Given the description of an element on the screen output the (x, y) to click on. 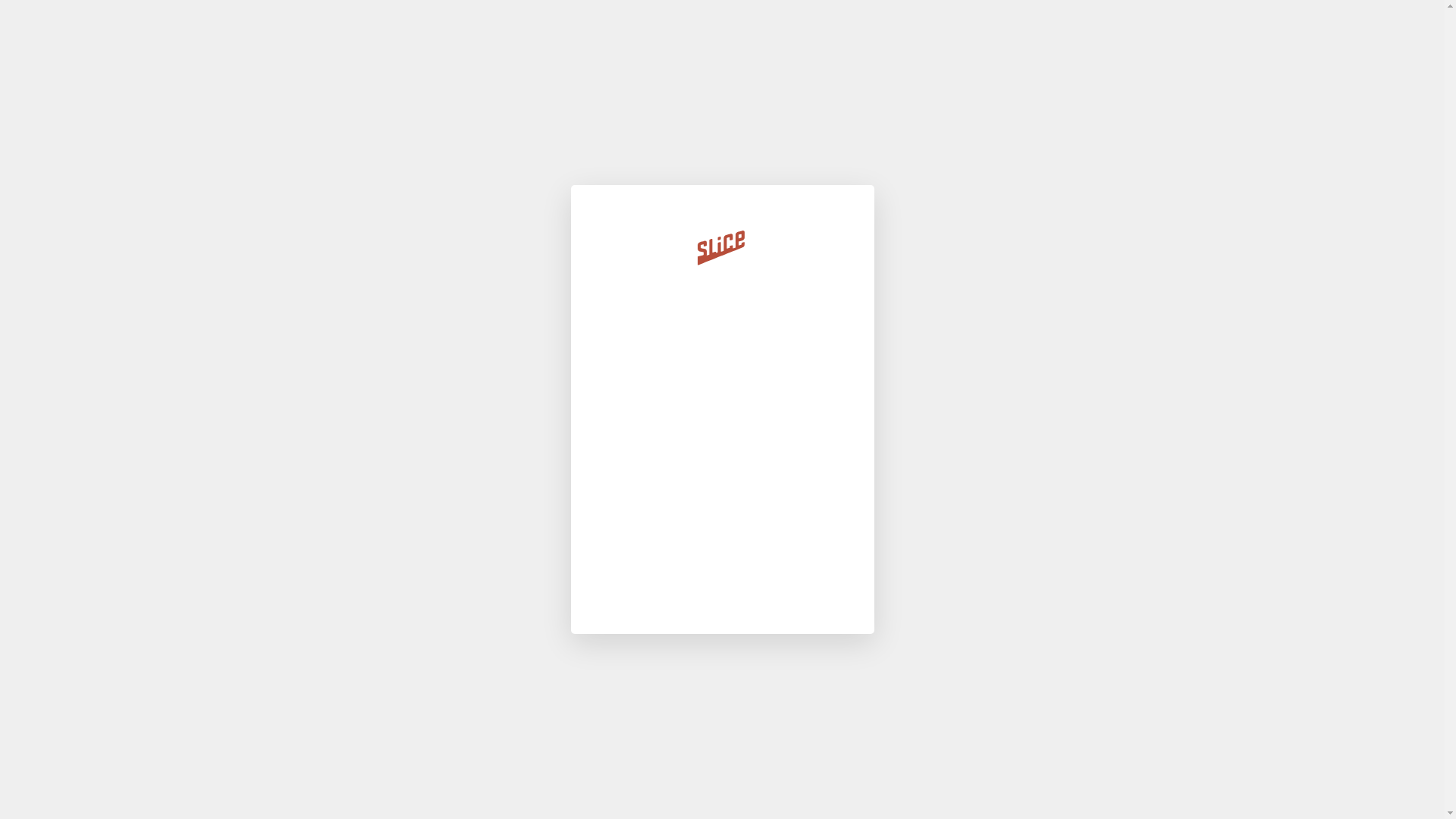
Slice Logo (721, 250)
